Given the description of an element on the screen output the (x, y) to click on. 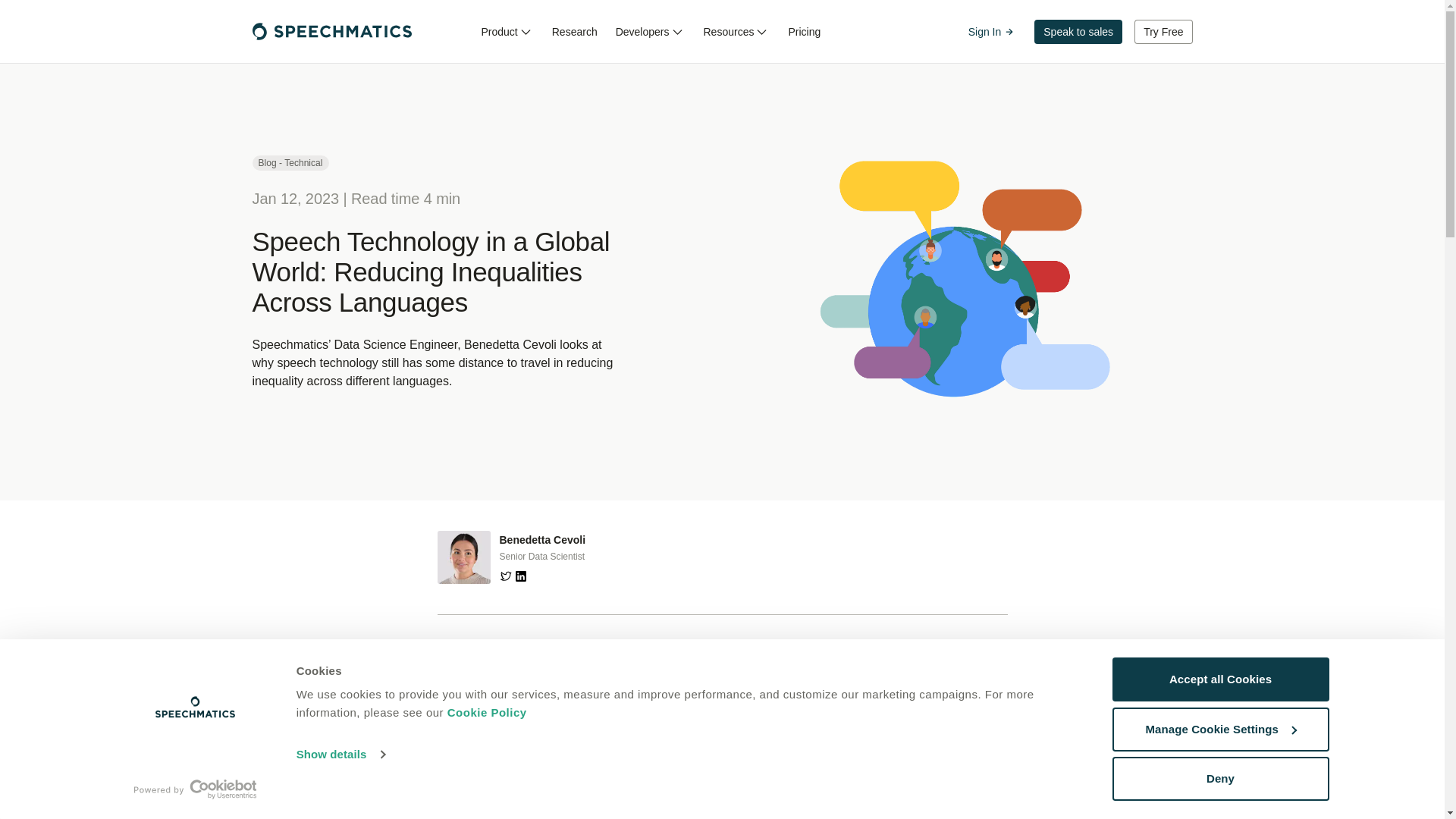
Cookie Policy (486, 712)
Show details (340, 753)
